Given the description of an element on the screen output the (x, y) to click on. 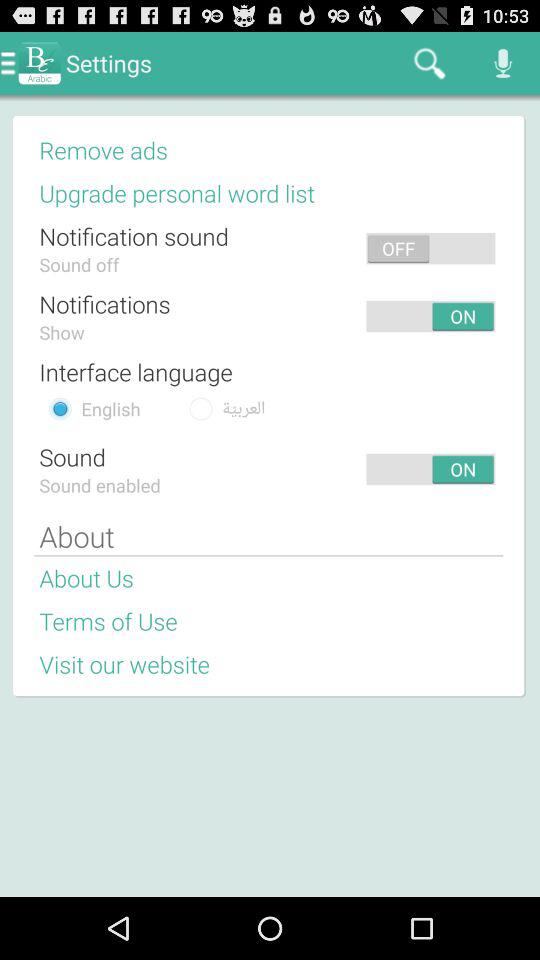
choose the app below the interface language app (243, 408)
